Given the description of an element on the screen output the (x, y) to click on. 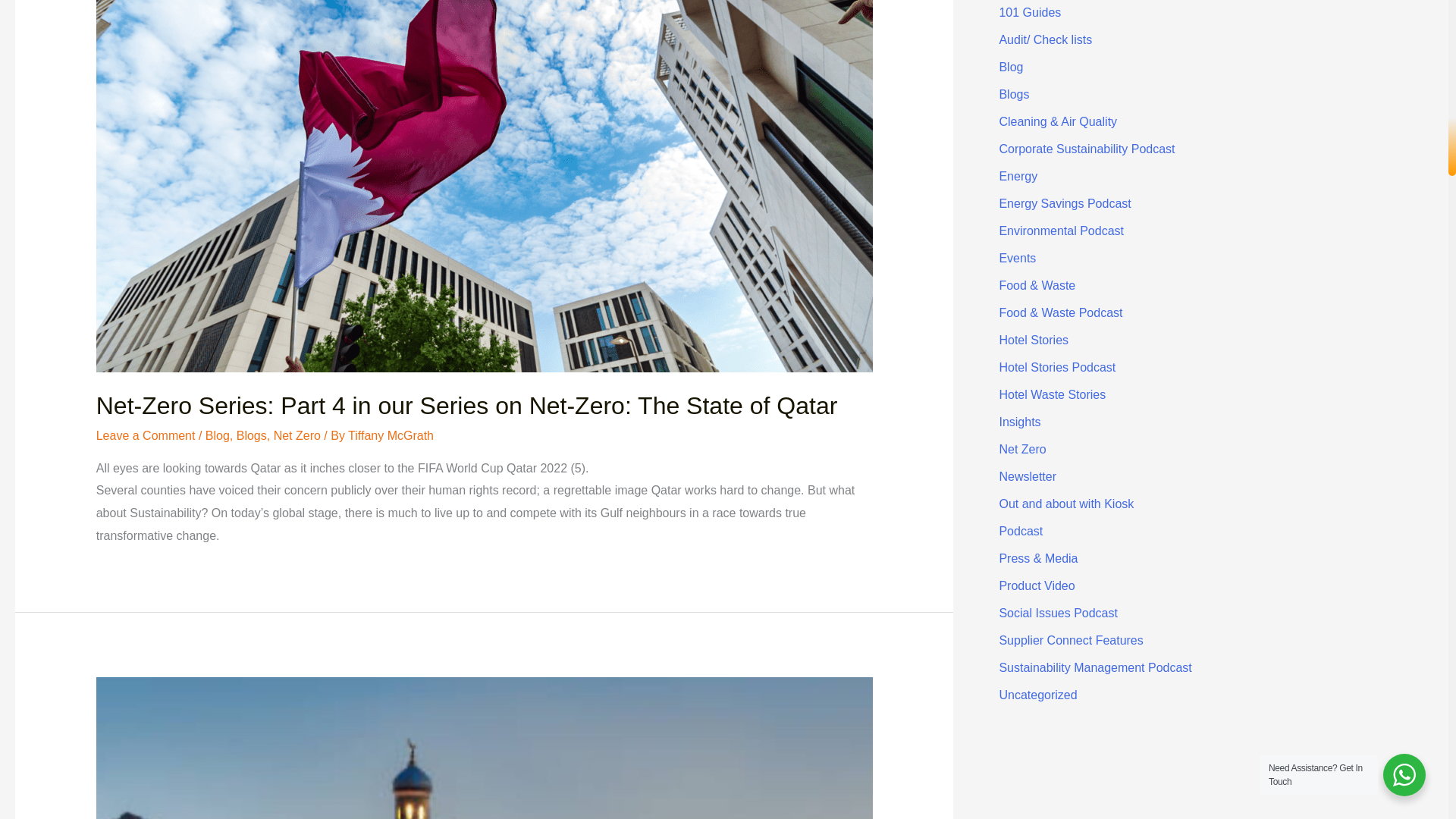
View all posts by Tiffany McGrath (390, 435)
